Given the description of an element on the screen output the (x, y) to click on. 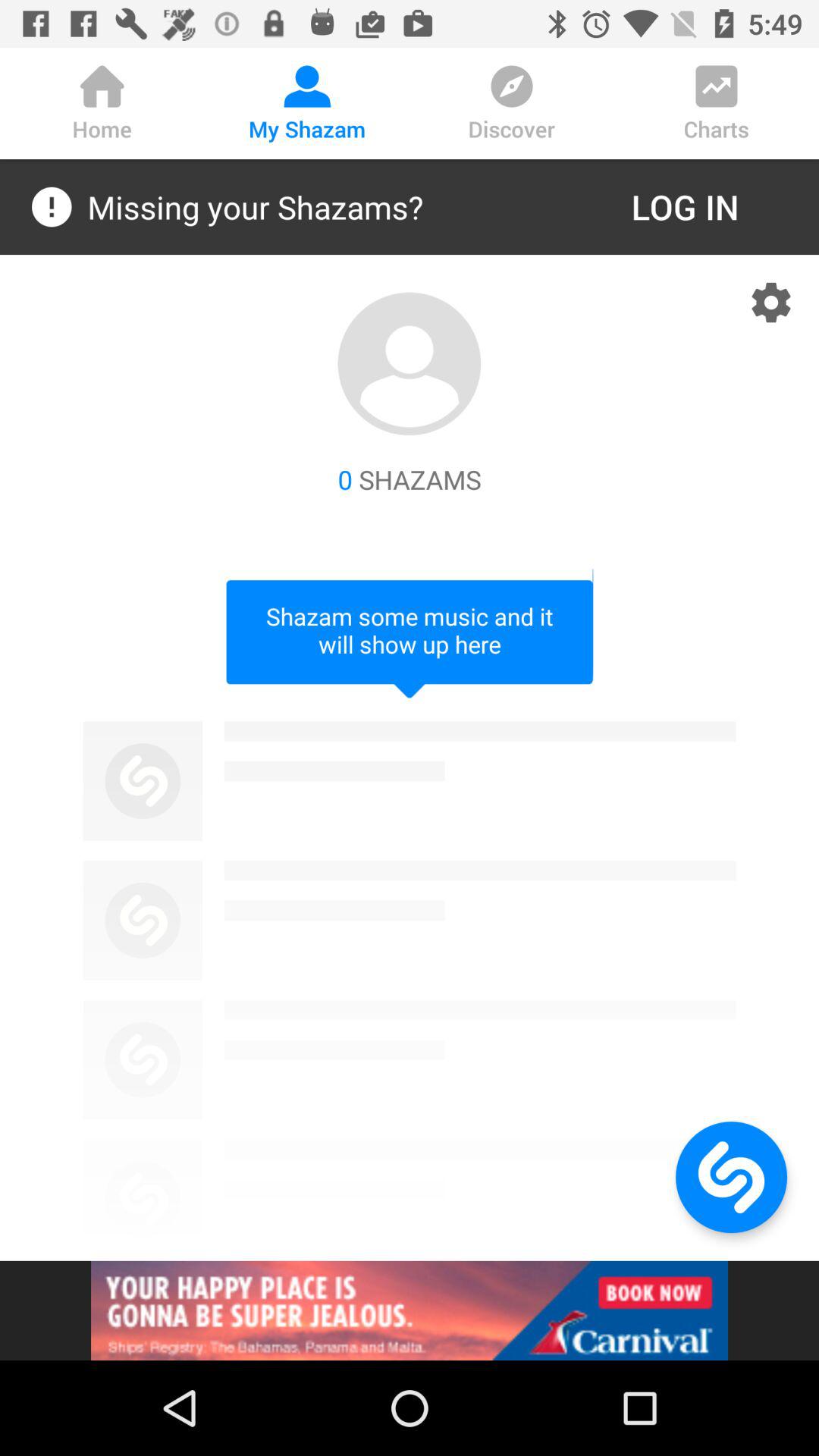
open shazom (731, 1177)
